Given the description of an element on the screen output the (x, y) to click on. 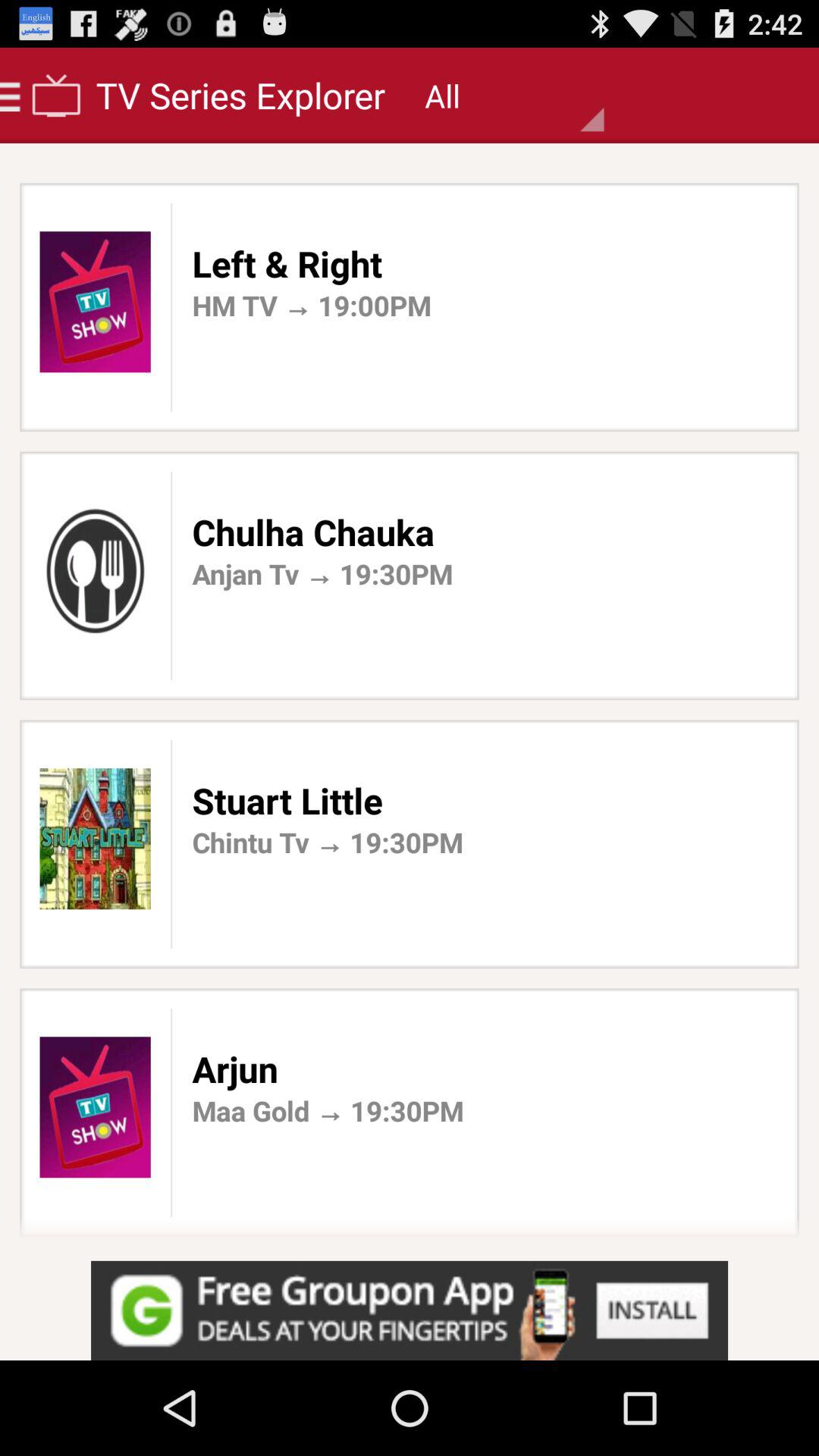
advertisement (409, 1310)
